Given the description of an element on the screen output the (x, y) to click on. 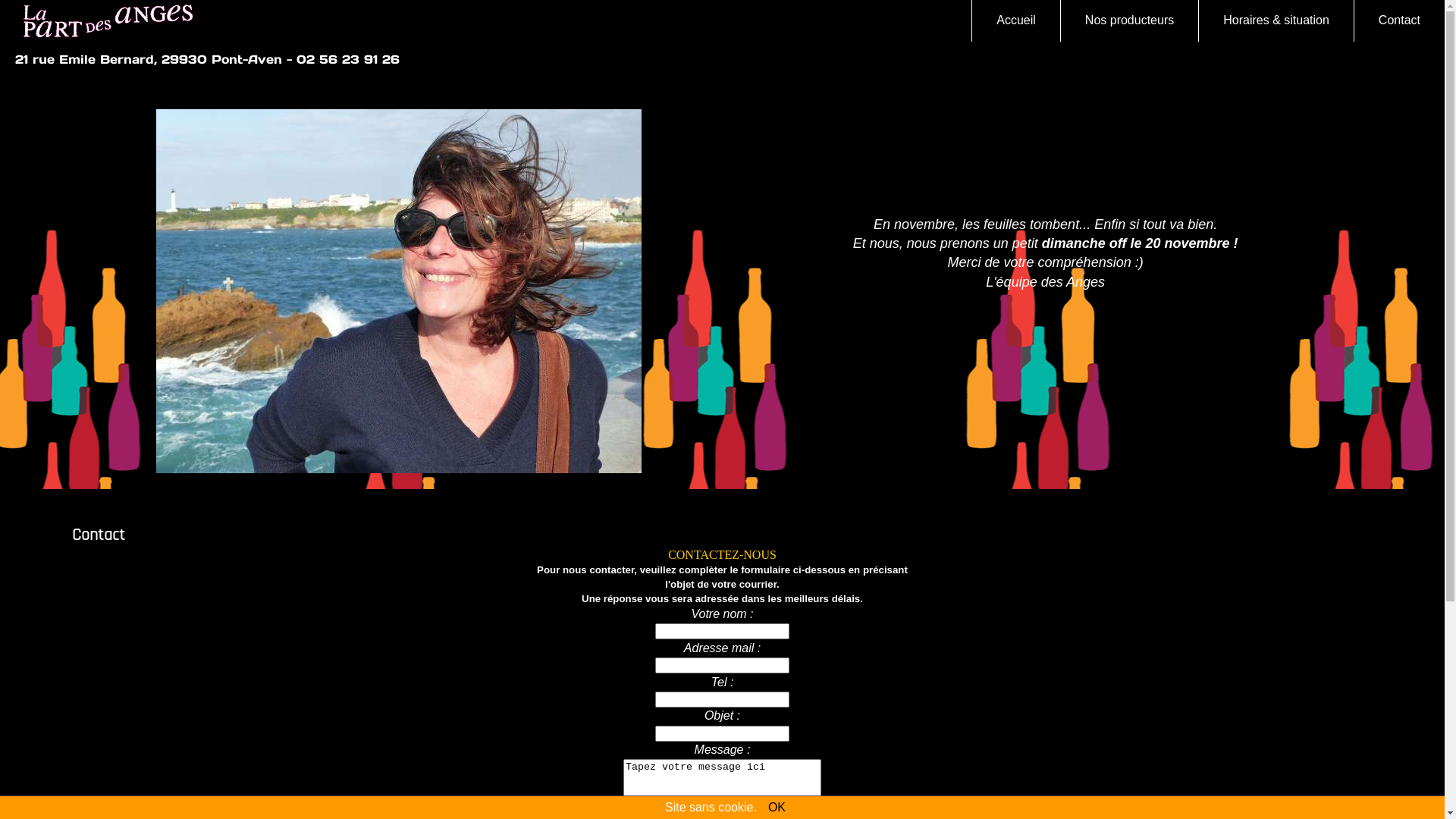
Nos producteurs Element type: text (1129, 20)
Horaires & situation Element type: text (1275, 20)
OK Element type: text (776, 806)
La Part Des Anges Pont-Aven Element type: hover (106, 20)
Contact Element type: text (1398, 20)
Accueil Element type: text (1015, 20)
